Given the description of an element on the screen output the (x, y) to click on. 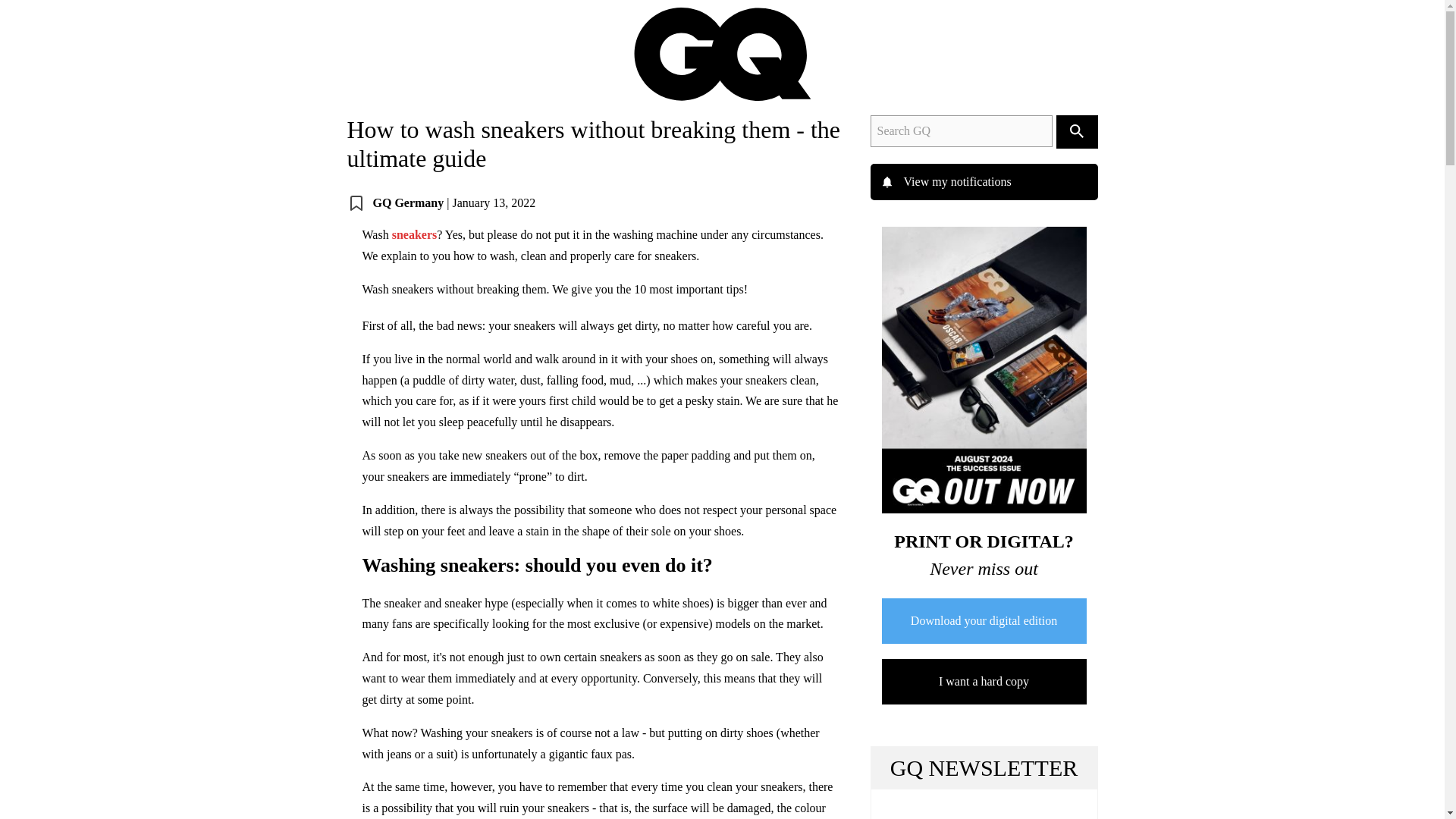
I want a hard copy (983, 681)
View my notifications (983, 181)
sneakers (414, 234)
Download your digital edition (983, 620)
